Given the description of an element on the screen output the (x, y) to click on. 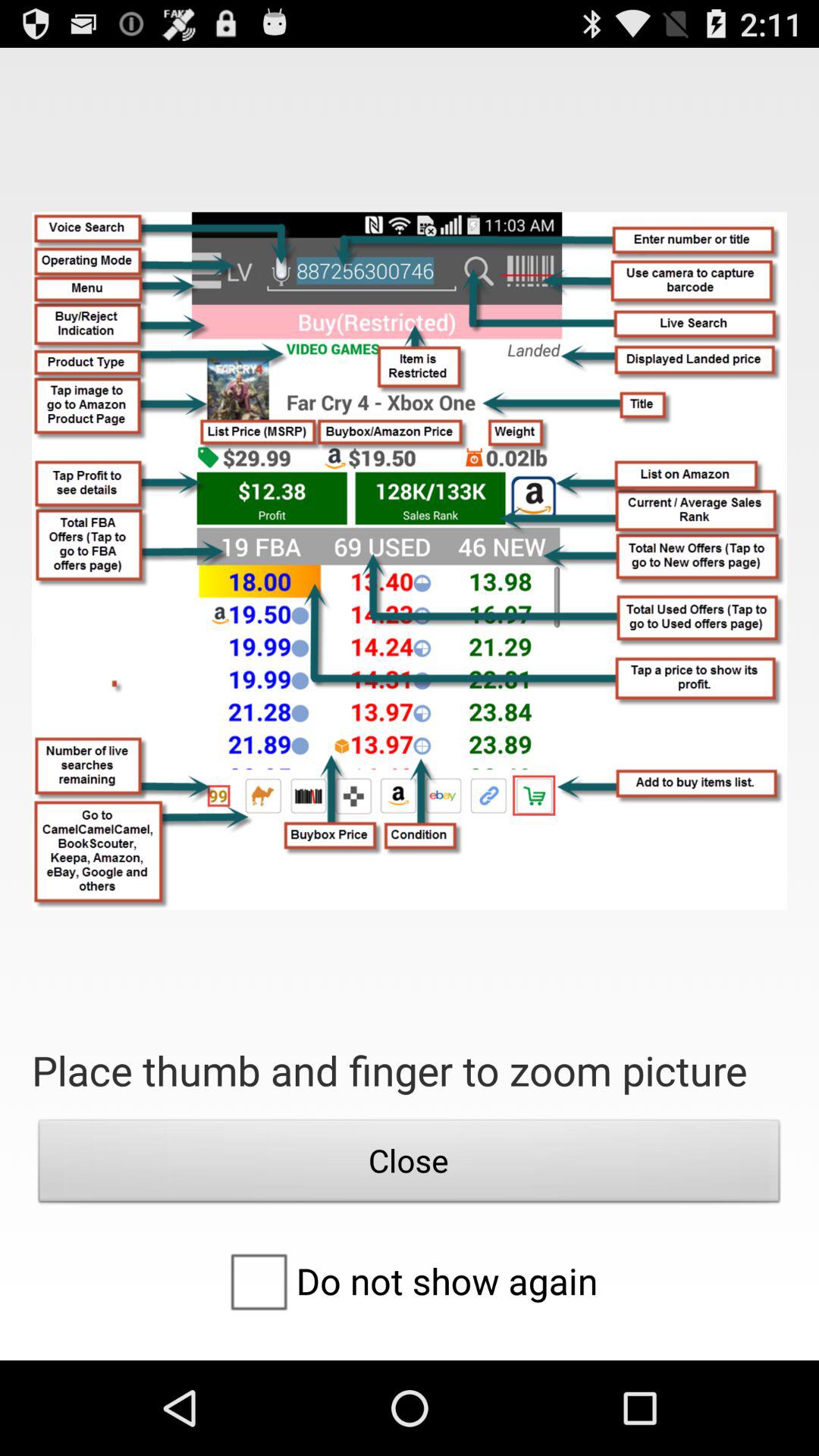
jump to close icon (409, 1165)
